Given the description of an element on the screen output the (x, y) to click on. 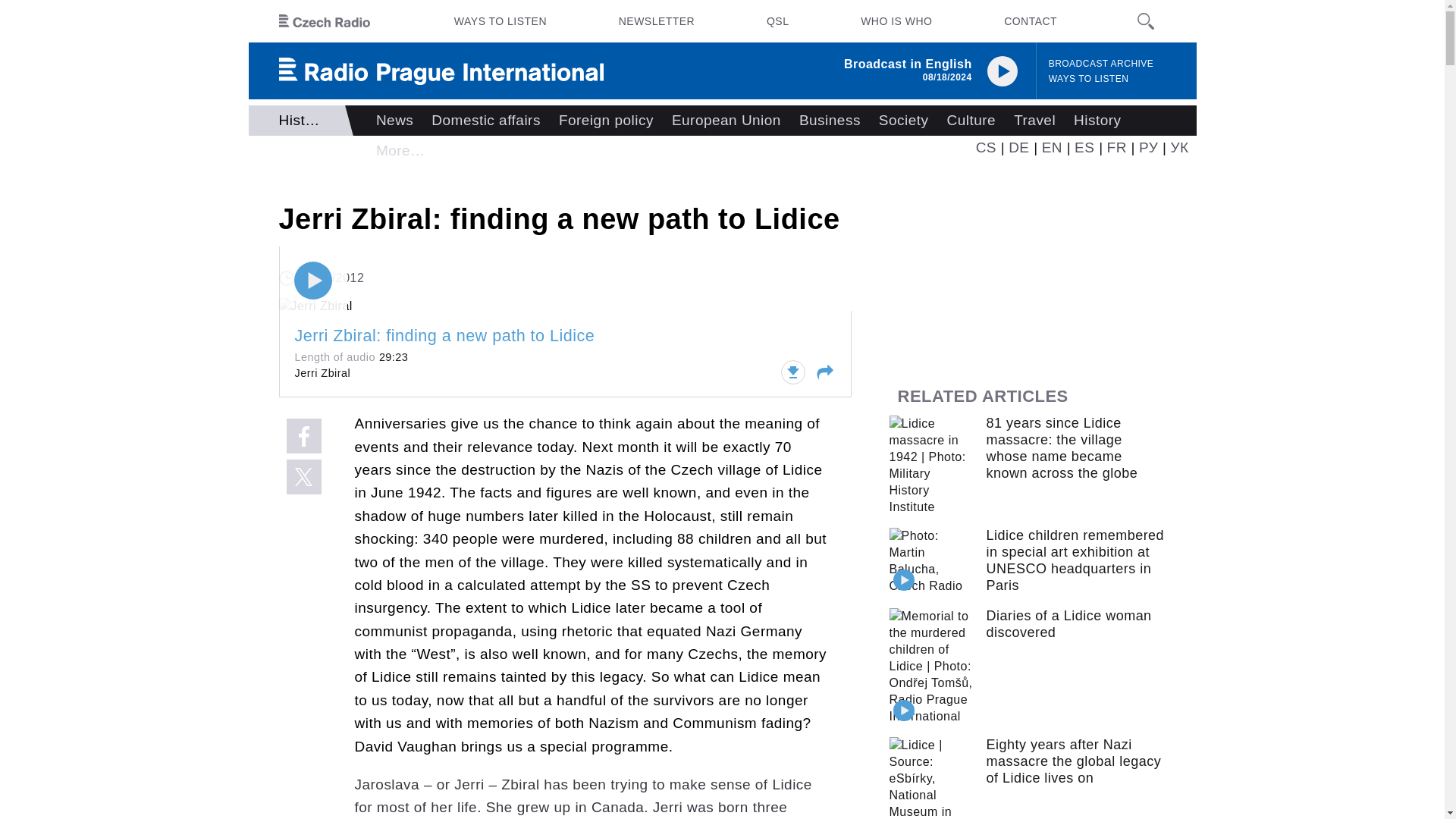
ES (1084, 147)
CS (985, 147)
WAYS TO LISTEN (500, 21)
Domestic affairs (486, 120)
Business (829, 120)
European Union (726, 120)
FR (1116, 147)
Broadcast in English  (908, 63)
BROADCAST ARCHIVE (1101, 63)
